Given the description of an element on the screen output the (x, y) to click on. 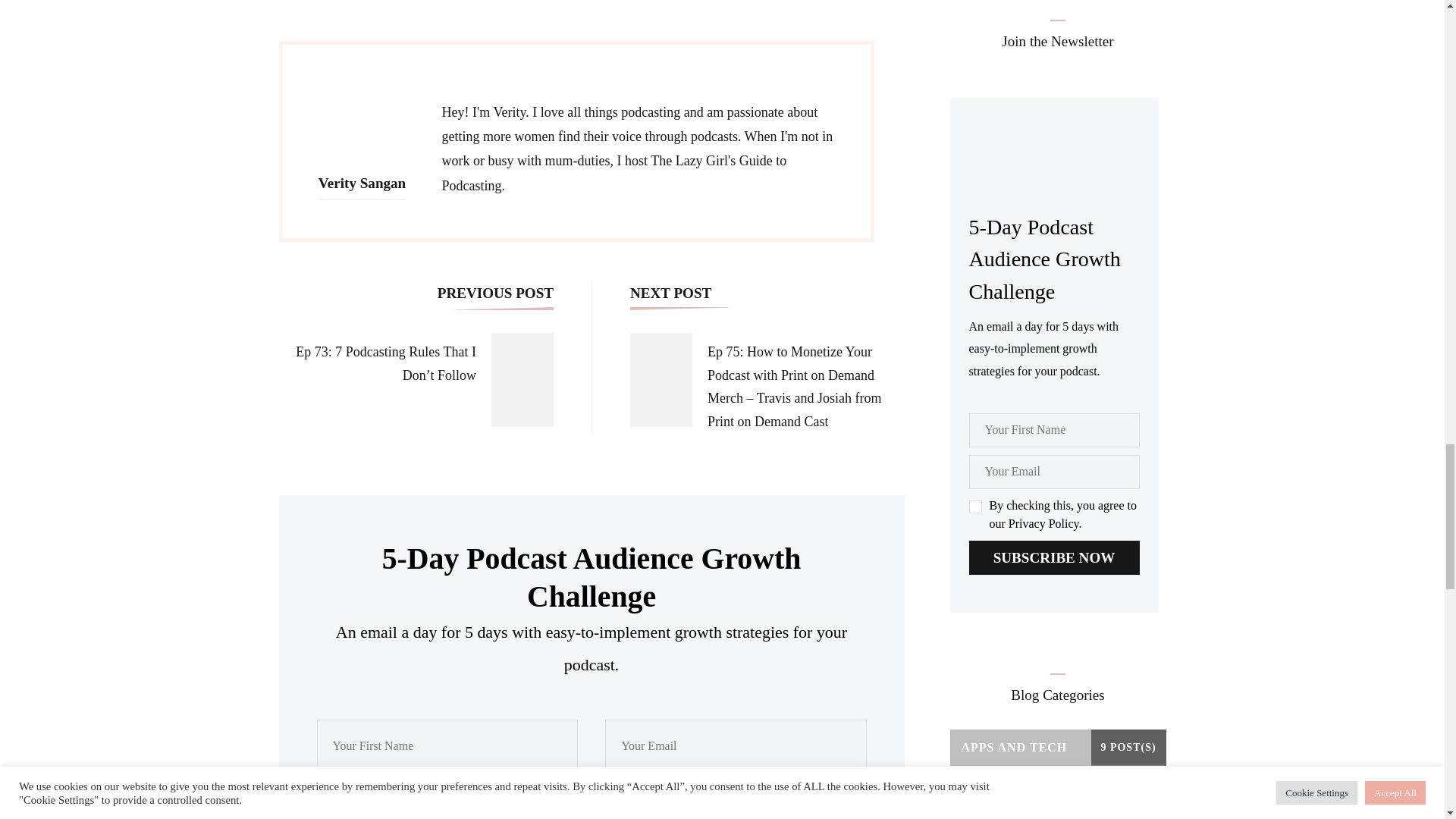
00:02:50 (330, 764)
SUBSCRIBE NOW (1054, 557)
00:02:01 (330, 408)
00:01:22 (330, 195)
00:02:30 (325, 565)
00:01:22 (325, 152)
00:02:30 (330, 607)
